Given the description of an element on the screen output the (x, y) to click on. 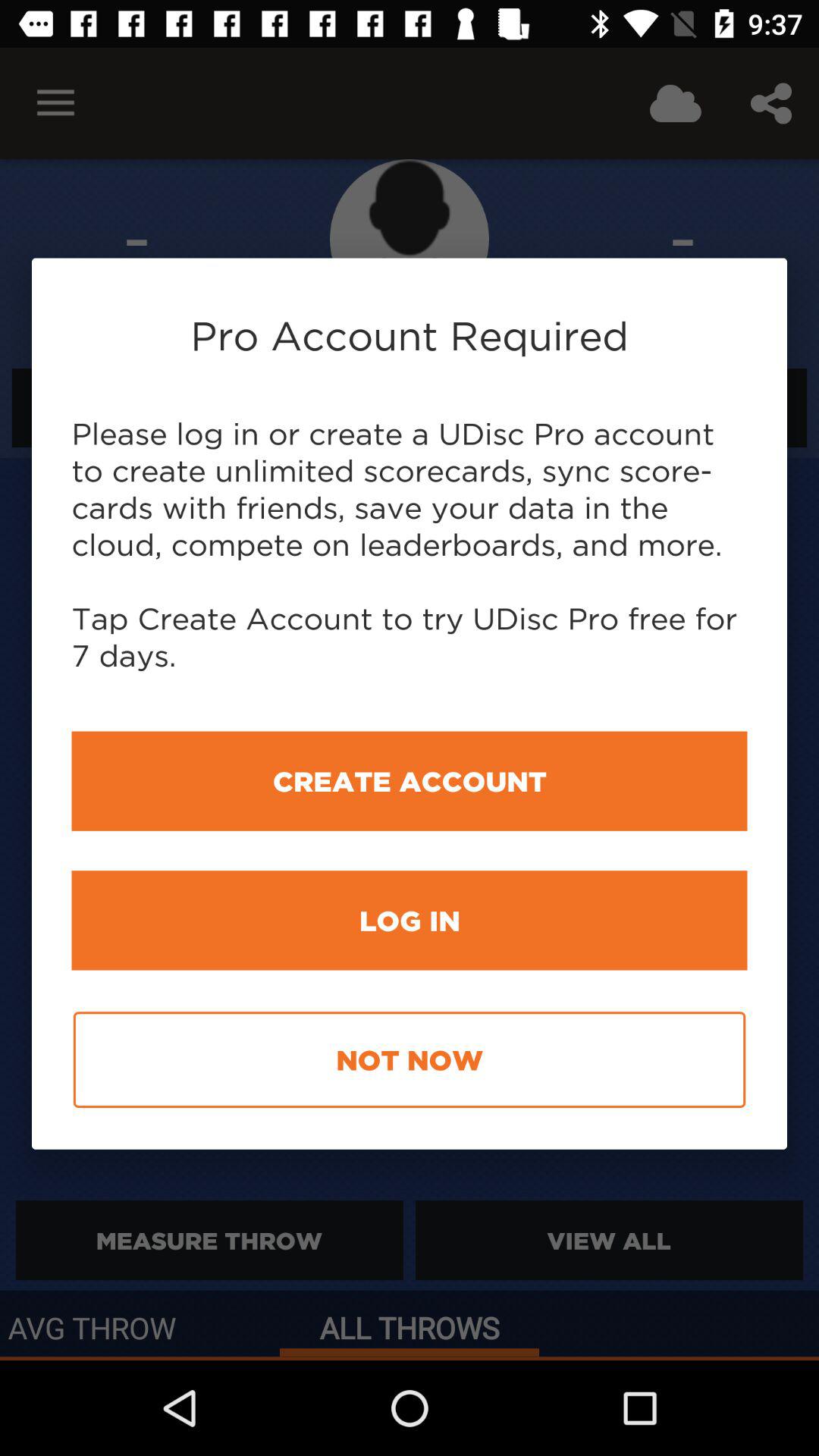
tap the item at the bottom (409, 1059)
